Given the description of an element on the screen output the (x, y) to click on. 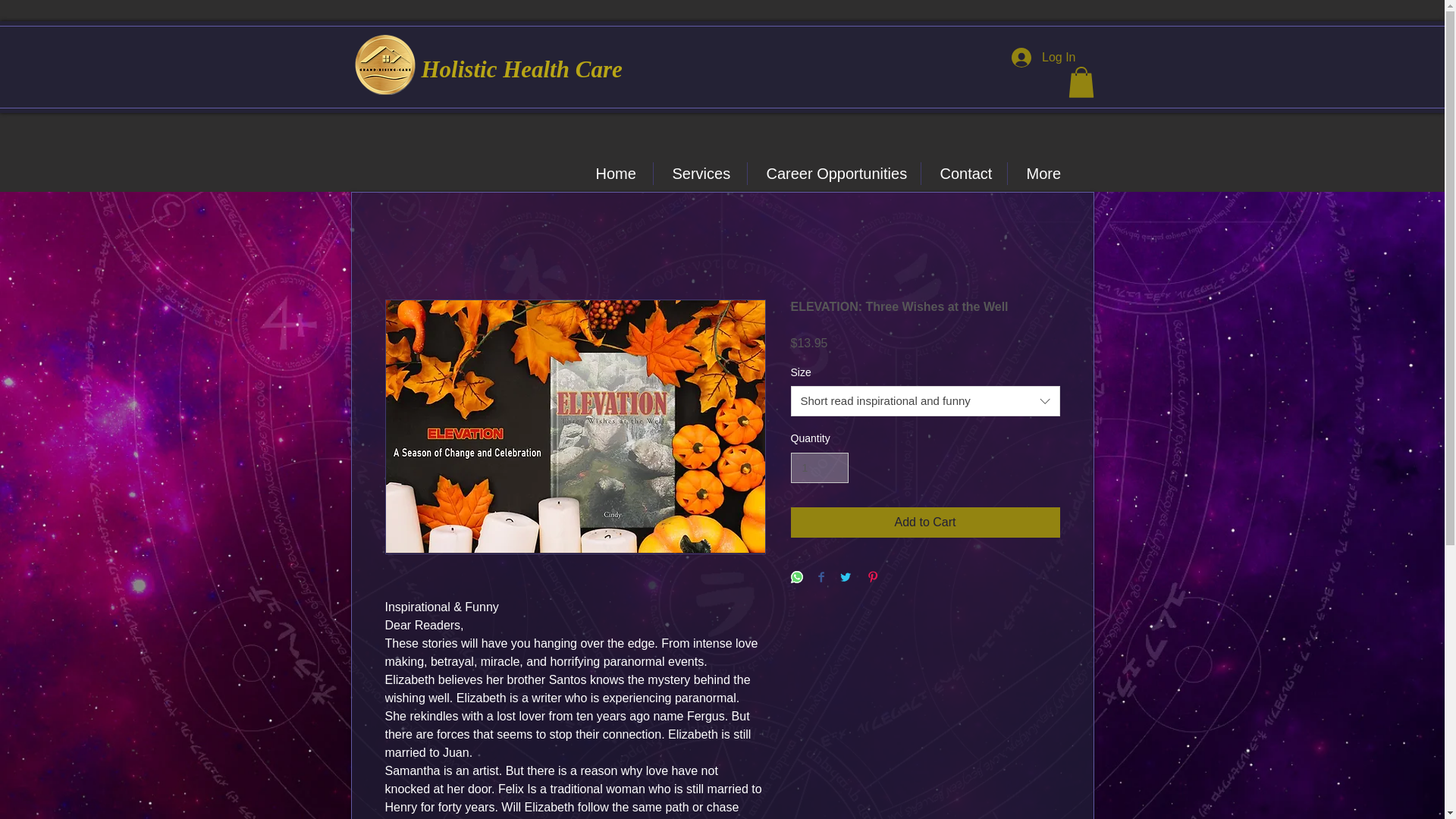
Home (614, 173)
Add to Cart (924, 521)
Services (699, 173)
Contact (963, 173)
Log In (1043, 57)
Career Opportunities (834, 173)
1 (818, 468)
Holistic Health Care (522, 66)
Short read inspirational and funny (924, 400)
